Given the description of an element on the screen output the (x, y) to click on. 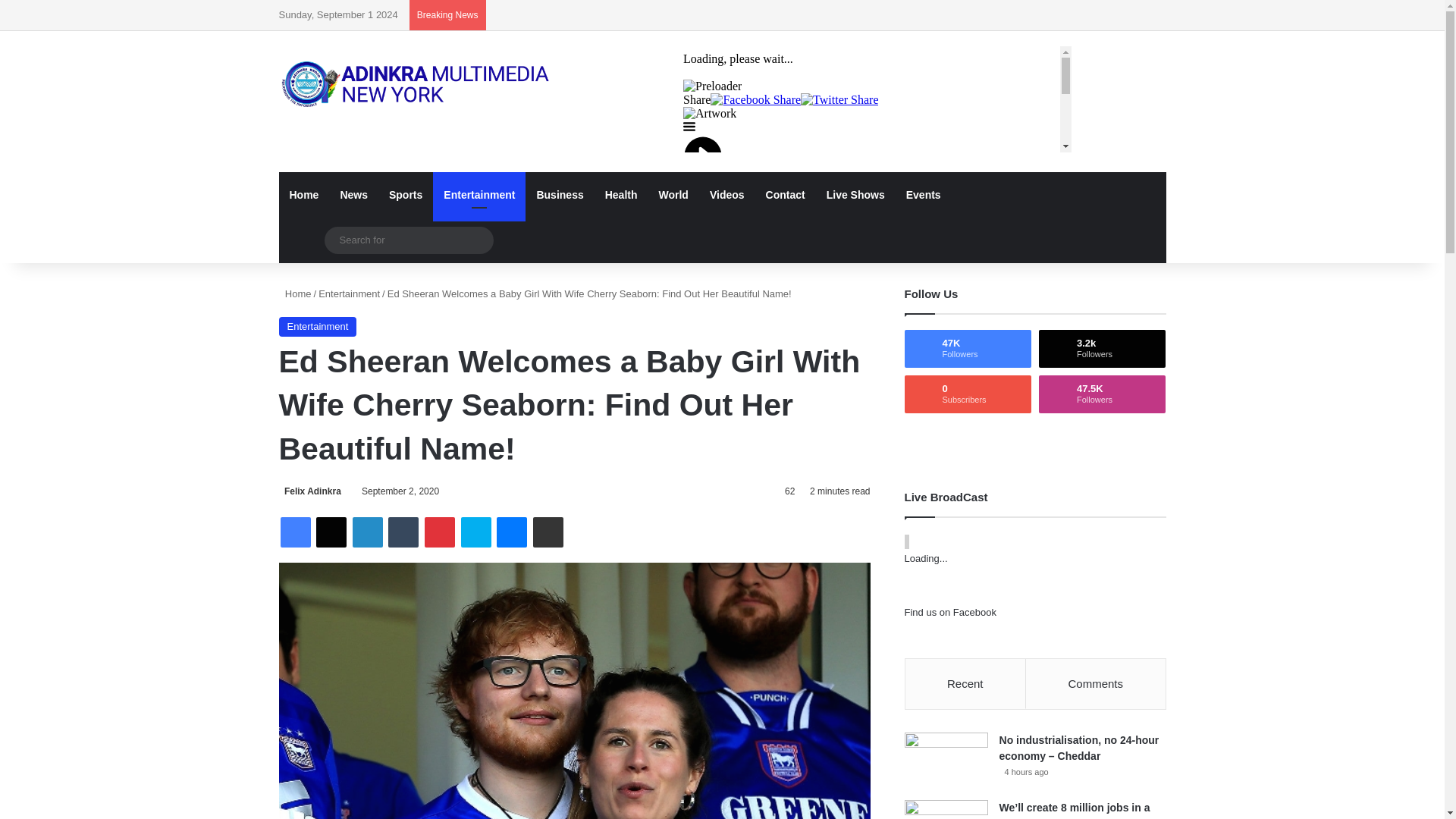
X (330, 531)
Contact (785, 194)
Skype (476, 531)
Entertainment (317, 326)
Events (923, 194)
Pinterest (439, 531)
Facebook (296, 531)
World (672, 194)
Home (295, 293)
Adinkra Multimedia New York (419, 84)
